Given the description of an element on the screen output the (x, y) to click on. 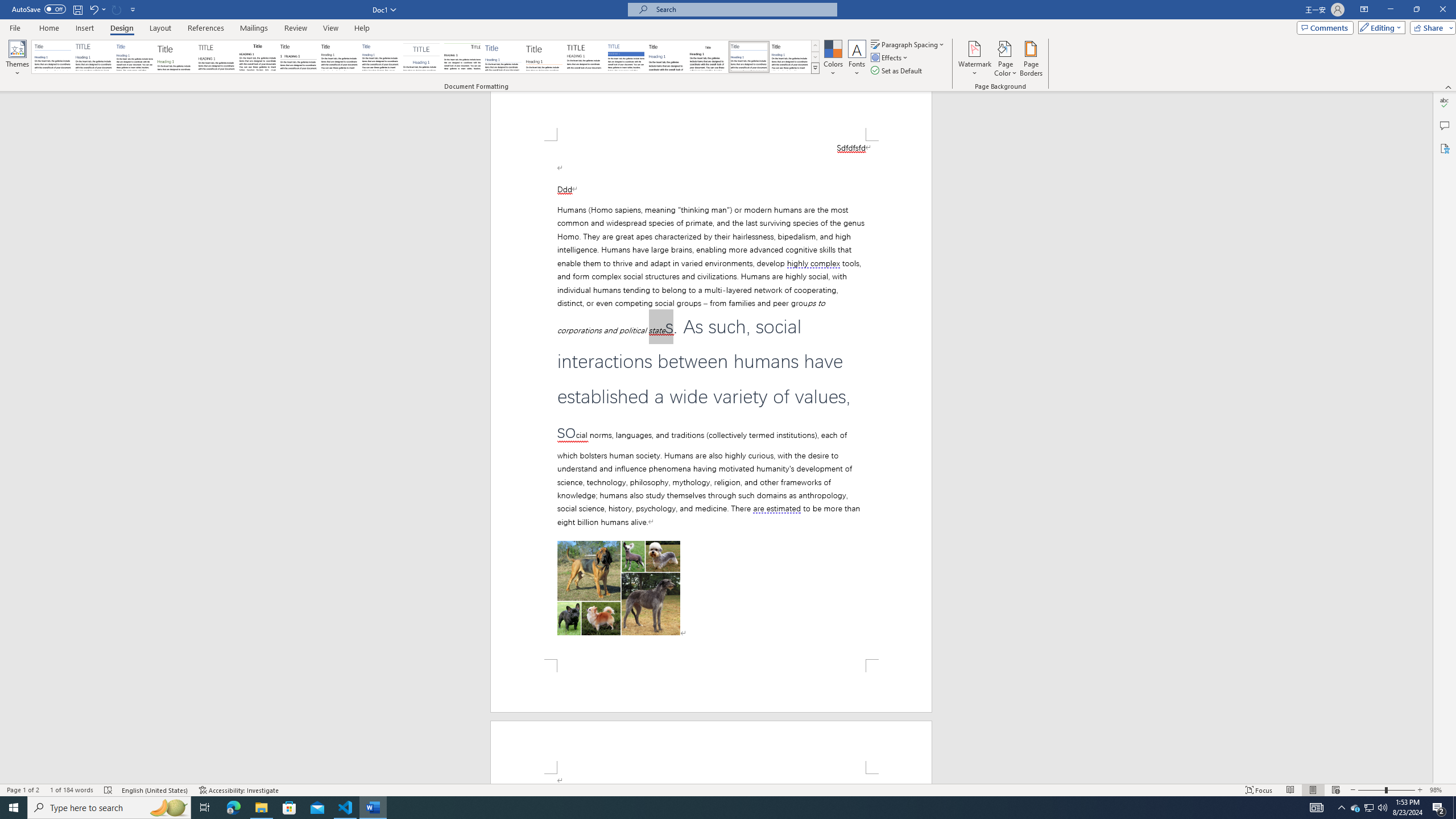
AutomationID: QuickStylesSets (425, 56)
Basic (Stylish) (175, 56)
Morphological variation in six dogs (618, 587)
Word 2013 (790, 56)
Style Set (814, 67)
